Given the description of an element on the screen output the (x, y) to click on. 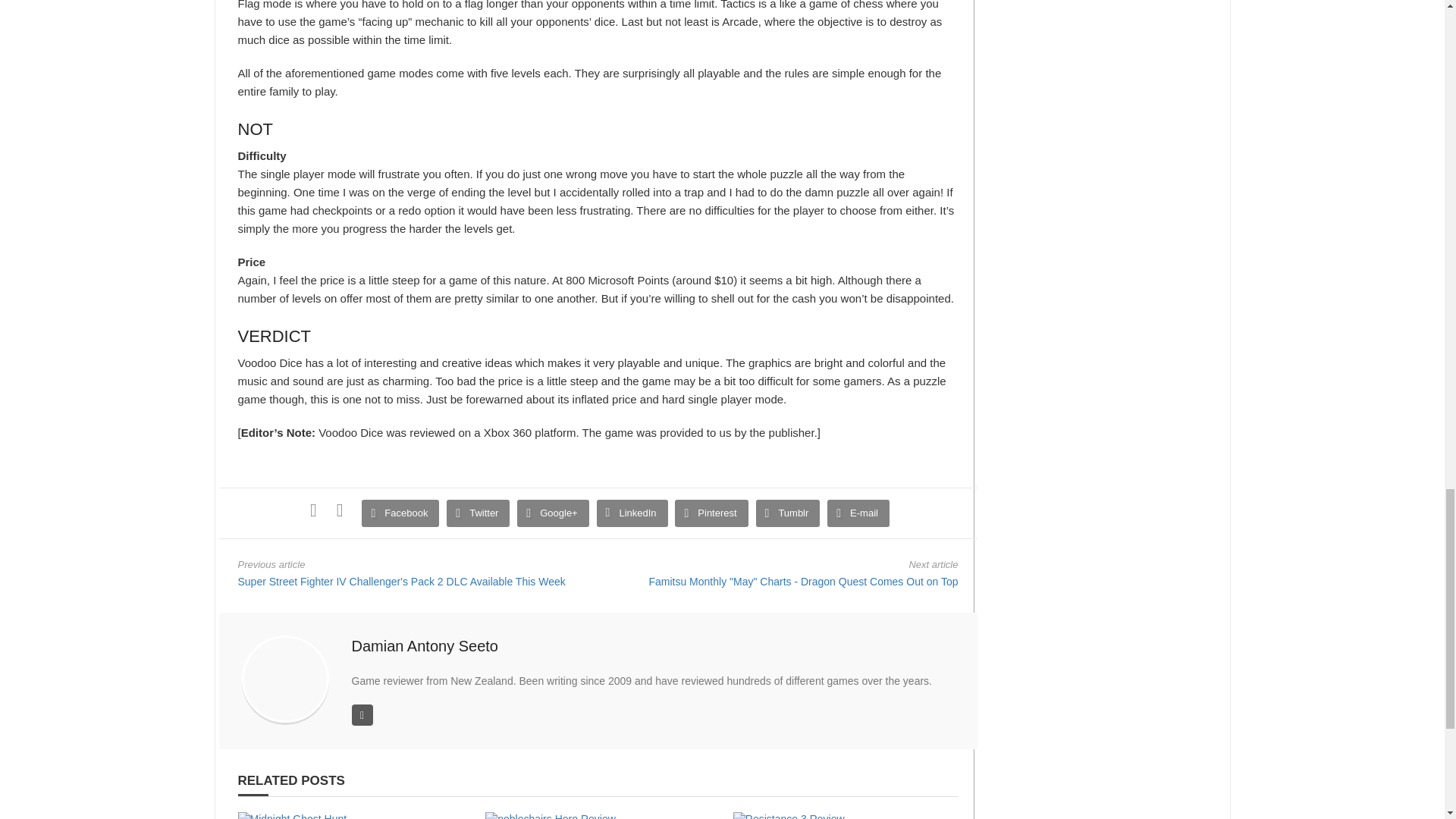
Posts by Damian Antony Seeto (424, 646)
Famitsu Monthly "May" Charts - Dragon Quest Comes Out on Top (802, 581)
